Given the description of an element on the screen output the (x, y) to click on. 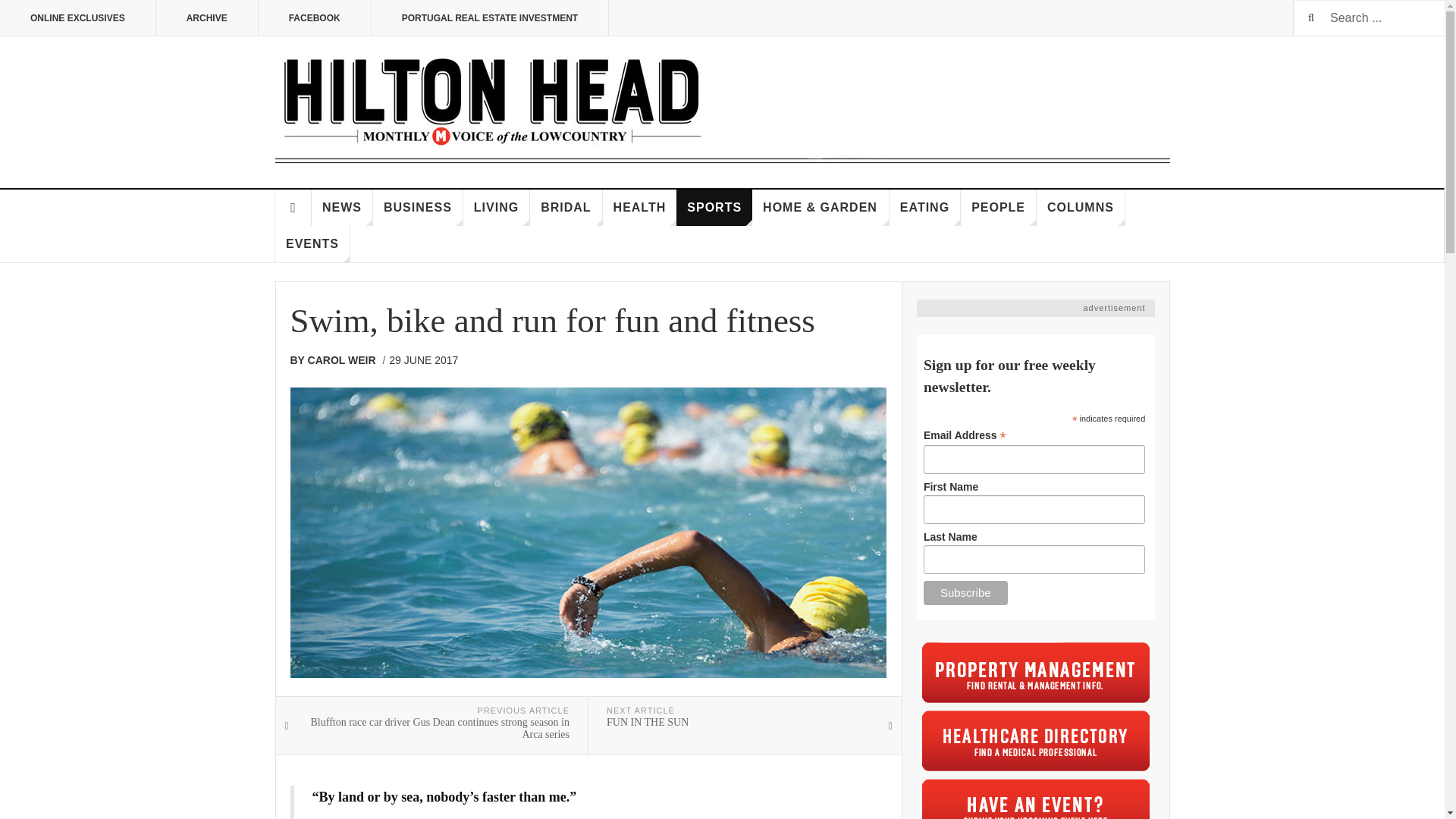
Subscribe (965, 592)
Hilton Head Medical Guide (1035, 740)
Hilton Head Monthly Magazine (722, 109)
Published:  (423, 360)
Hilton Head Property Management (1035, 672)
Hilton Head Events (1035, 796)
Written by  (337, 360)
